Given the description of an element on the screen output the (x, y) to click on. 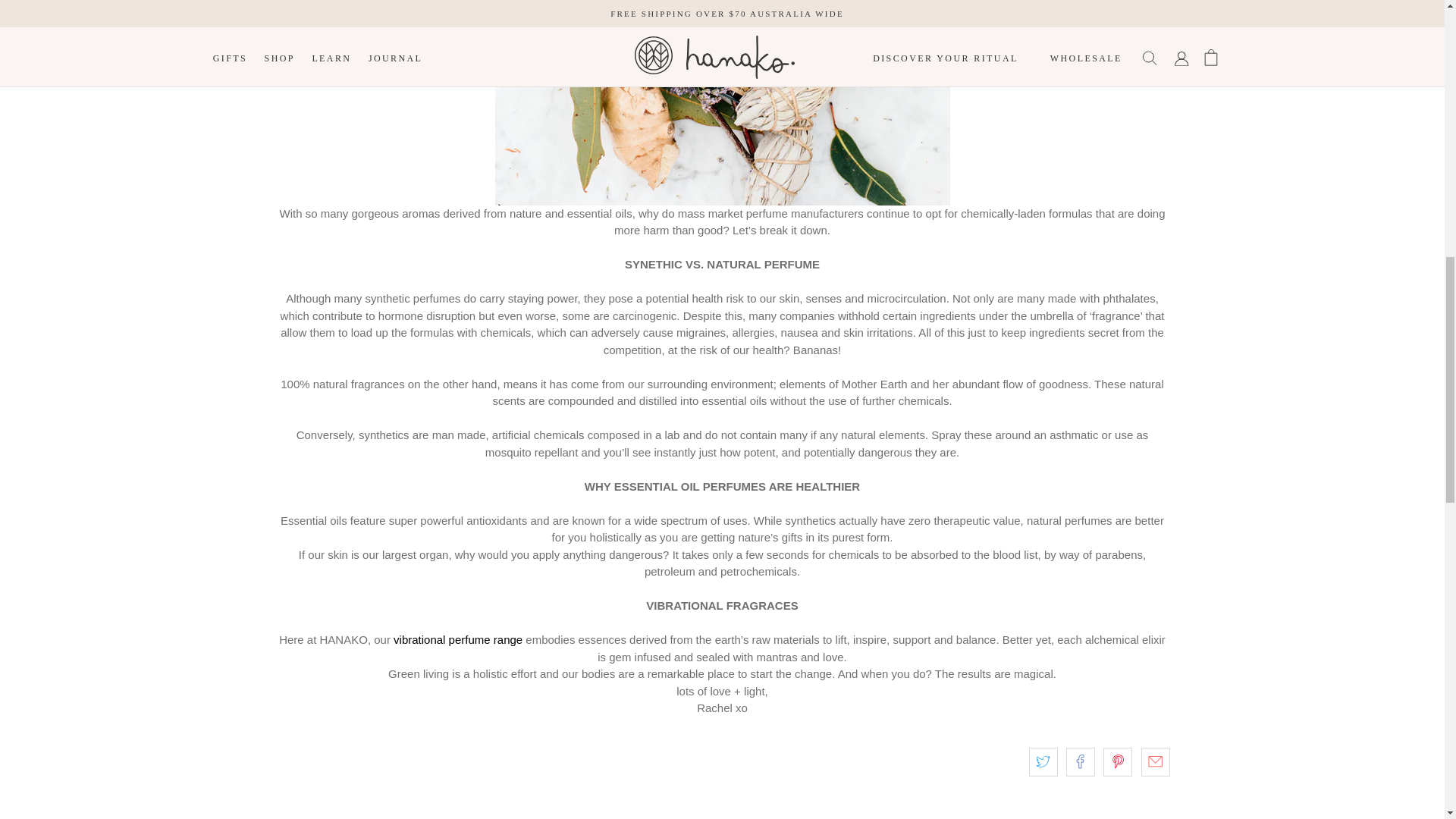
Share this on Twitter (1043, 761)
Share this on Pinterest (1117, 761)
Email this to a friend (1154, 761)
Share this on Facebook (1079, 761)
